Given the description of an element on the screen output the (x, y) to click on. 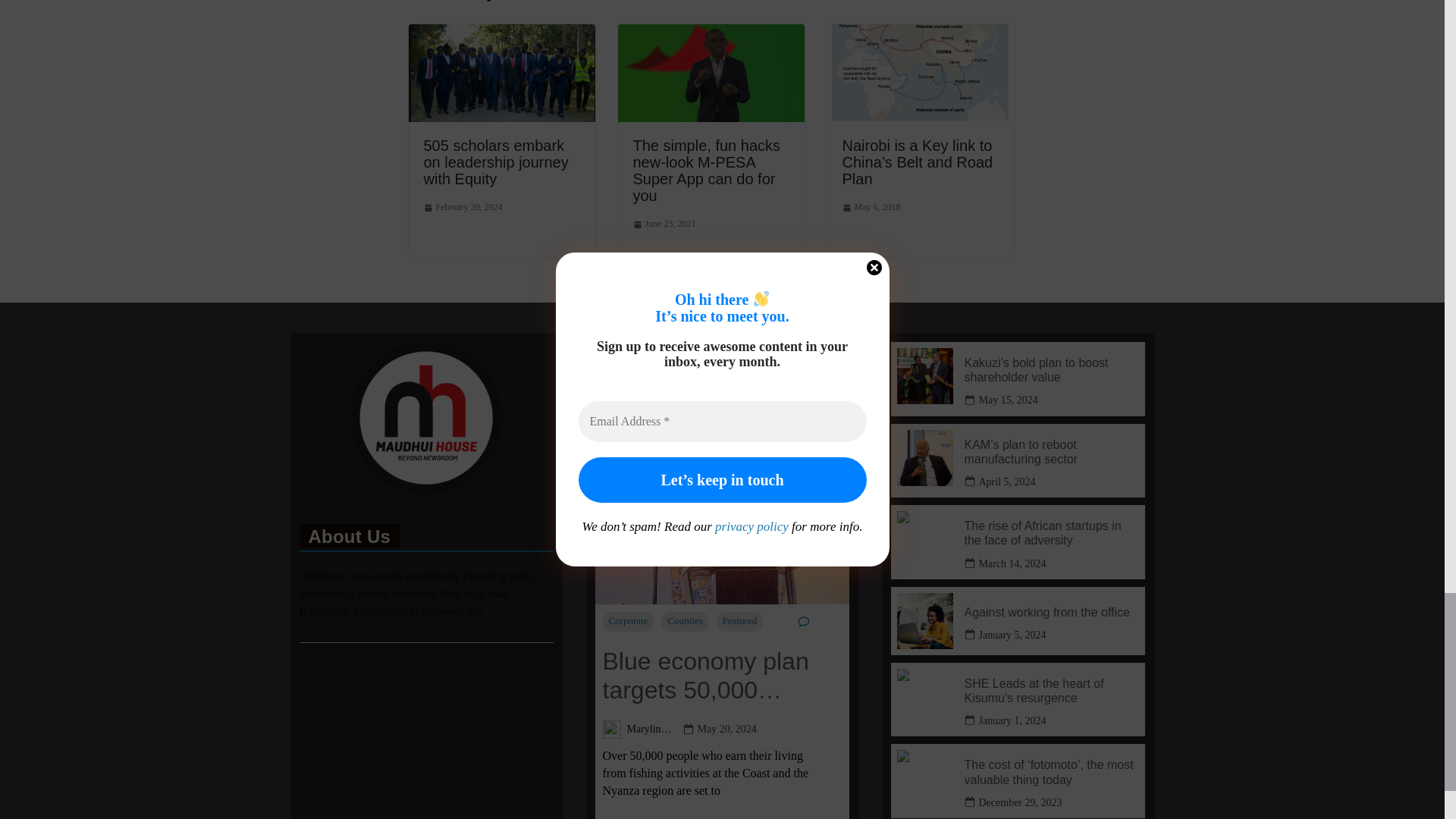
505 scholars embark on leadership journey with Equity (495, 162)
505 scholars embark on leadership journey with Equity (500, 33)
10:17 AM (462, 207)
11:03 AM (663, 224)
